Given the description of an element on the screen output the (x, y) to click on. 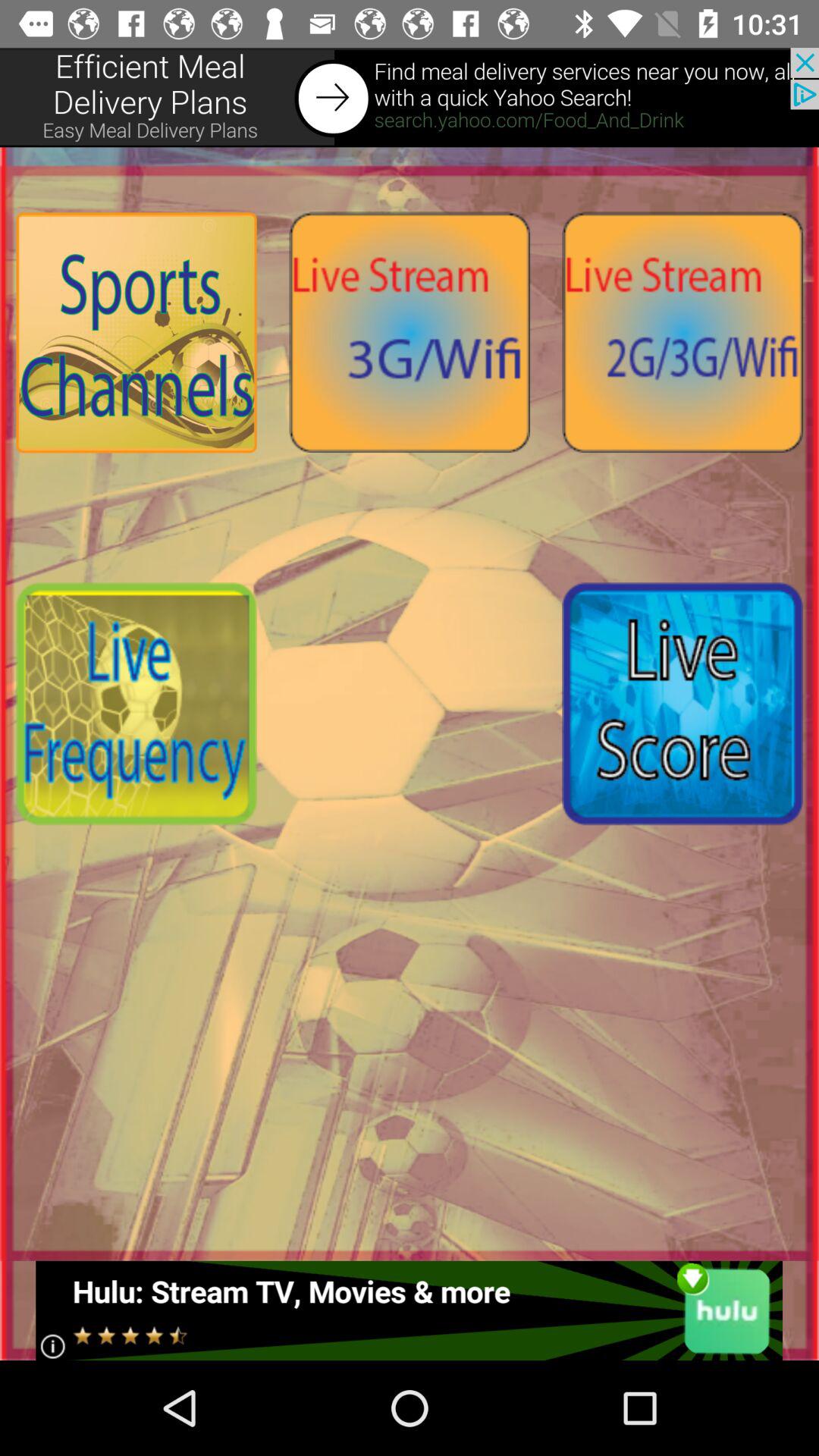
go to live score (682, 703)
